Given the description of an element on the screen output the (x, y) to click on. 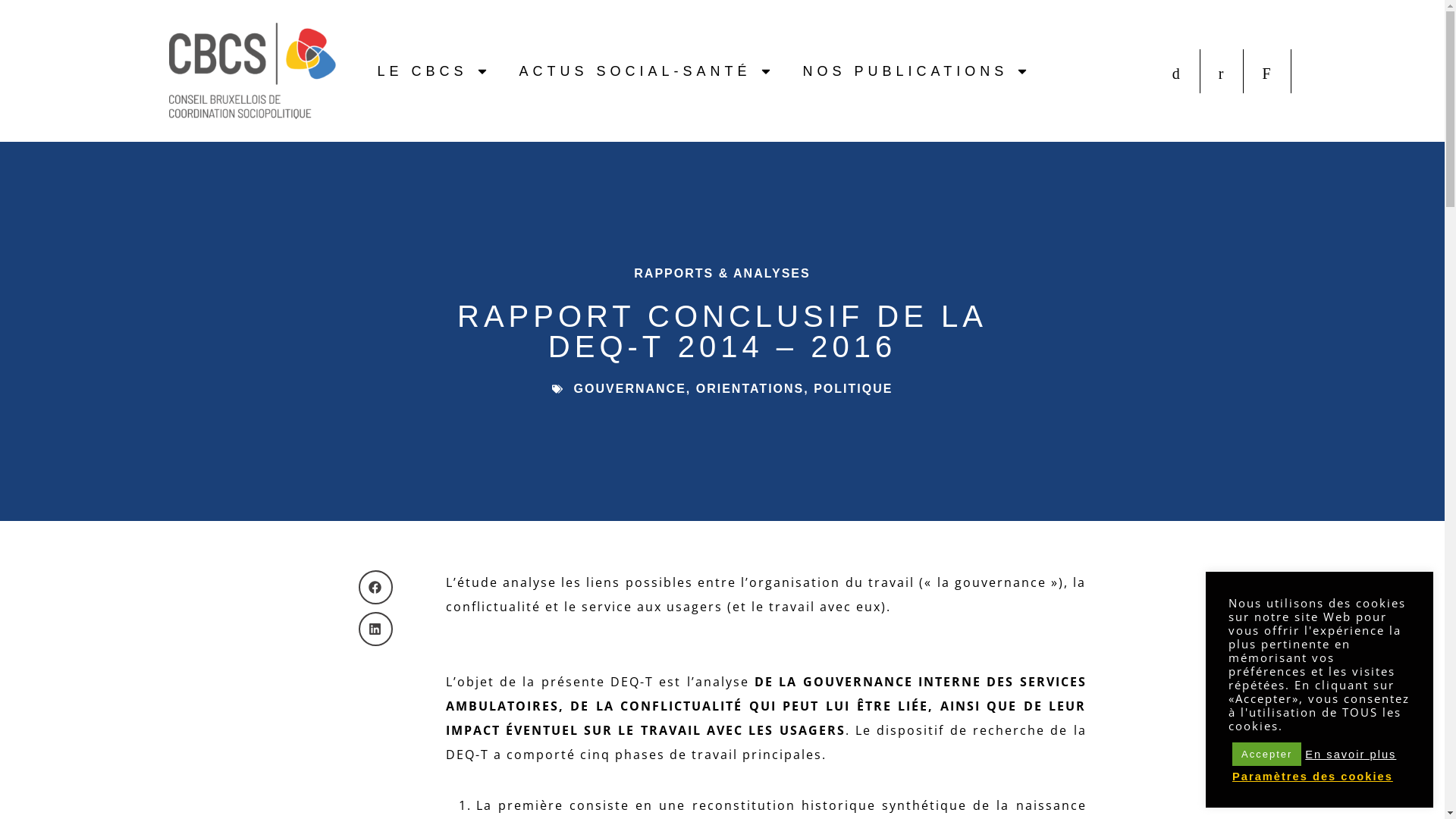
POLITIQUE Element type: text (852, 388)
Accepter Element type: text (1266, 753)
En savoir plus Element type: text (1350, 754)
LE CBCS Element type: text (432, 70)
NOS PUBLICATIONS Element type: text (915, 70)
ORIENTATIONS Element type: text (750, 388)
GOUVERNANCE Element type: text (630, 388)
RAPPORTS & ANALYSES Element type: text (721, 272)
